Given the description of an element on the screen output the (x, y) to click on. 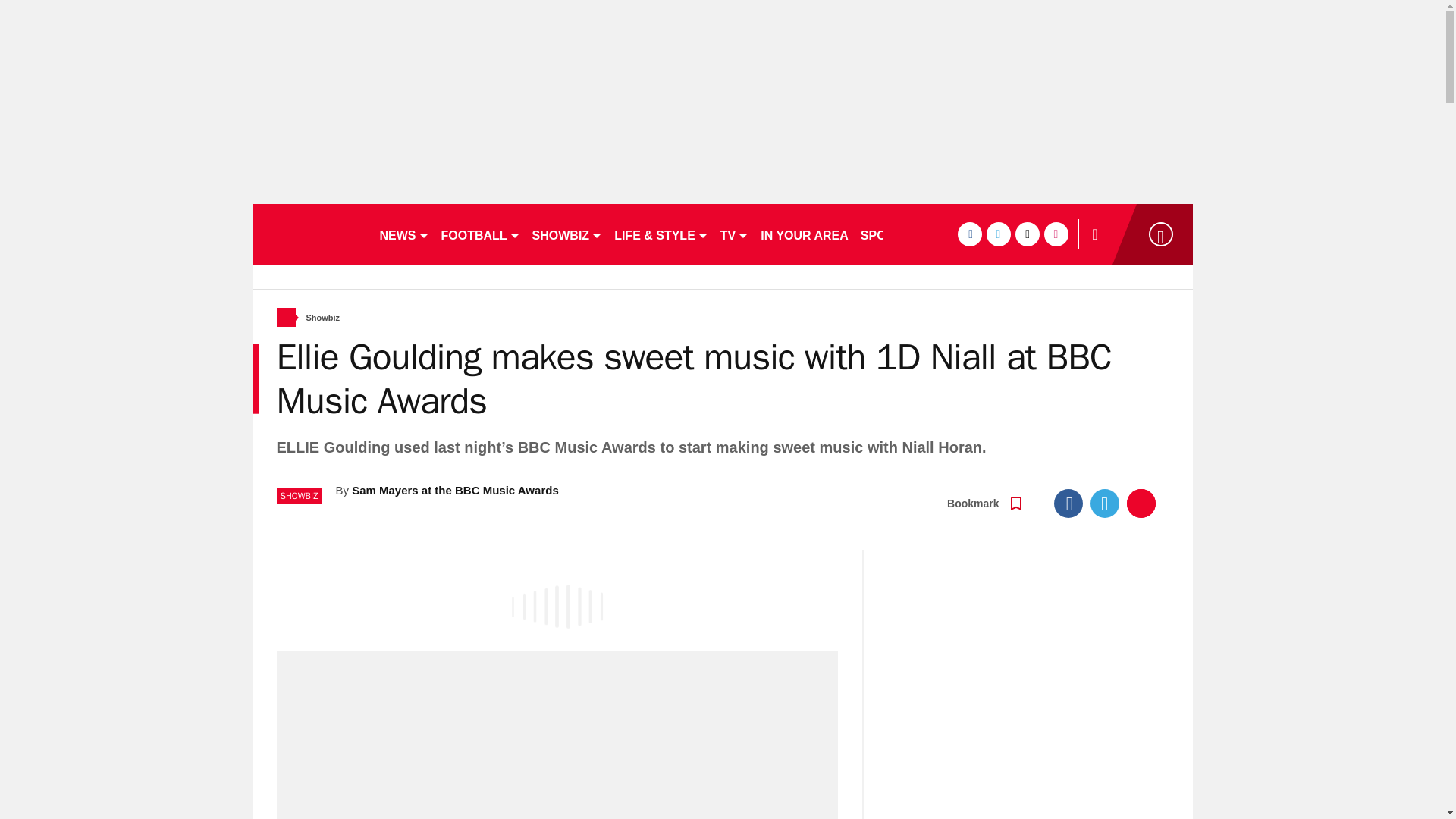
instagram (1055, 233)
tiktok (1026, 233)
NEWS (402, 233)
Facebook (1068, 502)
SHOWBIZ (566, 233)
FOOTBALL (480, 233)
Twitter (1104, 502)
facebook (968, 233)
twitter (997, 233)
dailystar (308, 233)
